Given the description of an element on the screen output the (x, y) to click on. 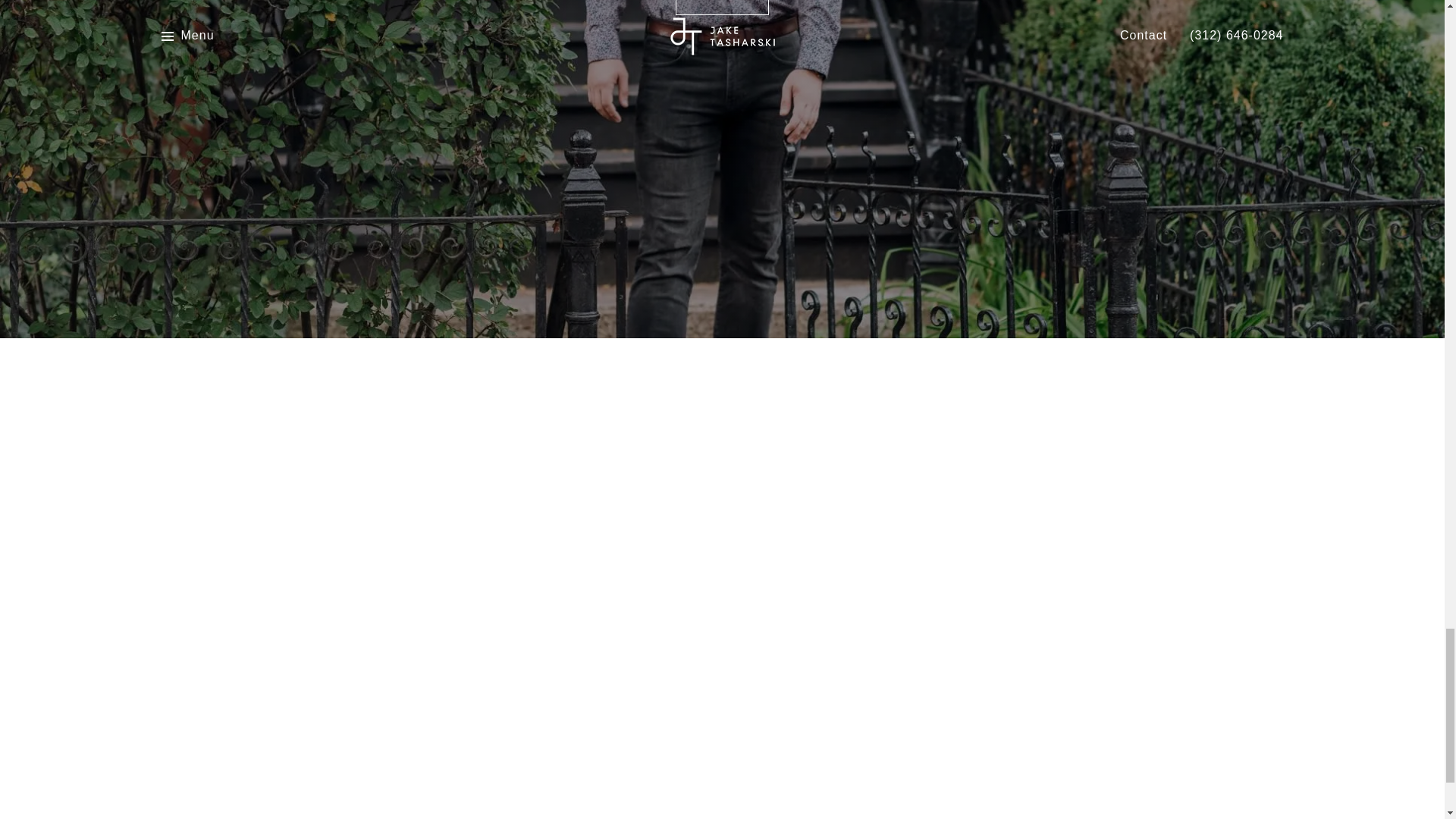
Contact (721, 7)
